Given the description of an element on the screen output the (x, y) to click on. 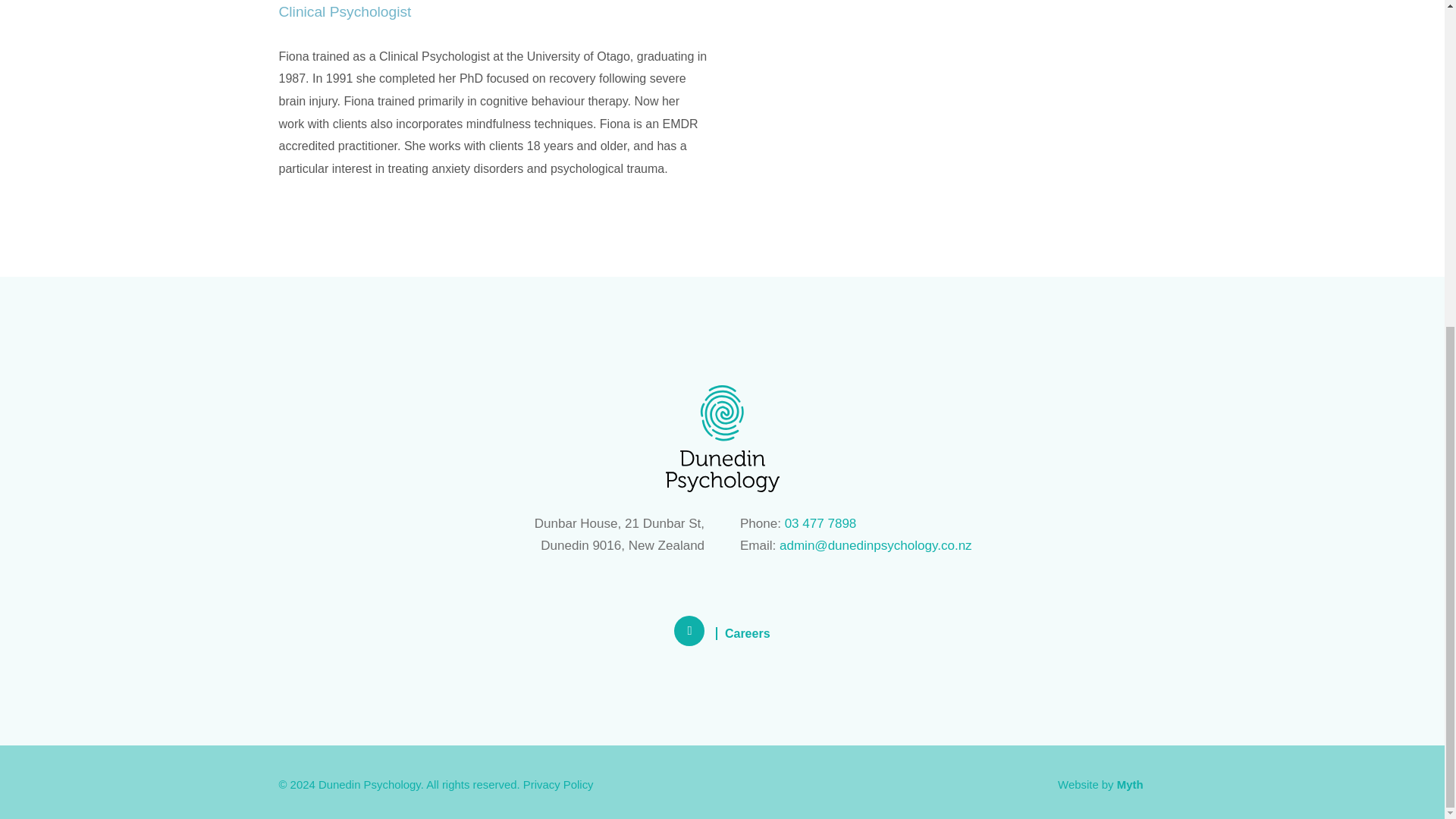
Website by Myth (1100, 784)
03 477 7898 (820, 523)
Careers (747, 633)
Privacy Policy (558, 784)
